Given the description of an element on the screen output the (x, y) to click on. 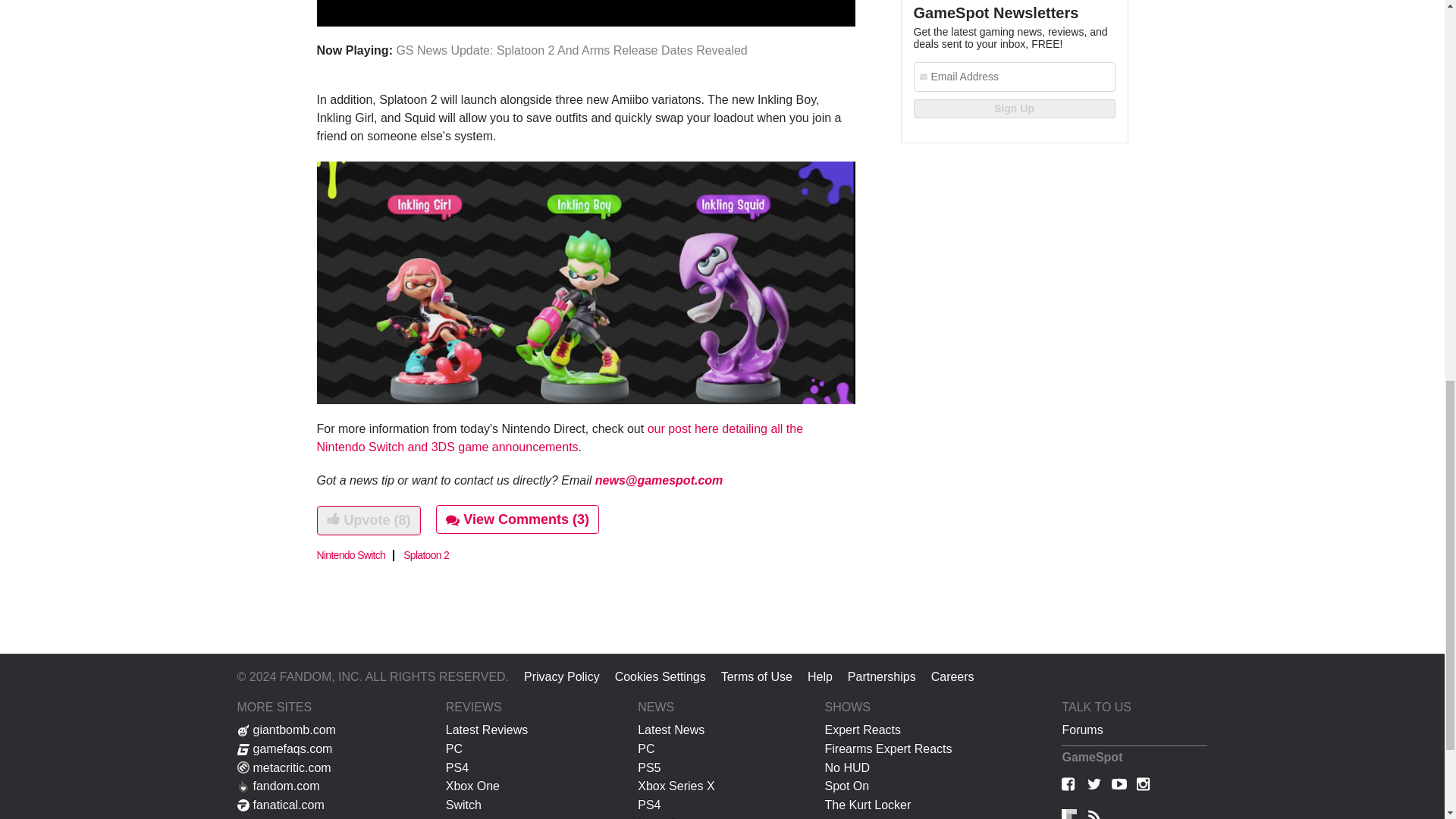
RSS Feeds (1094, 812)
